Given the description of an element on the screen output the (x, y) to click on. 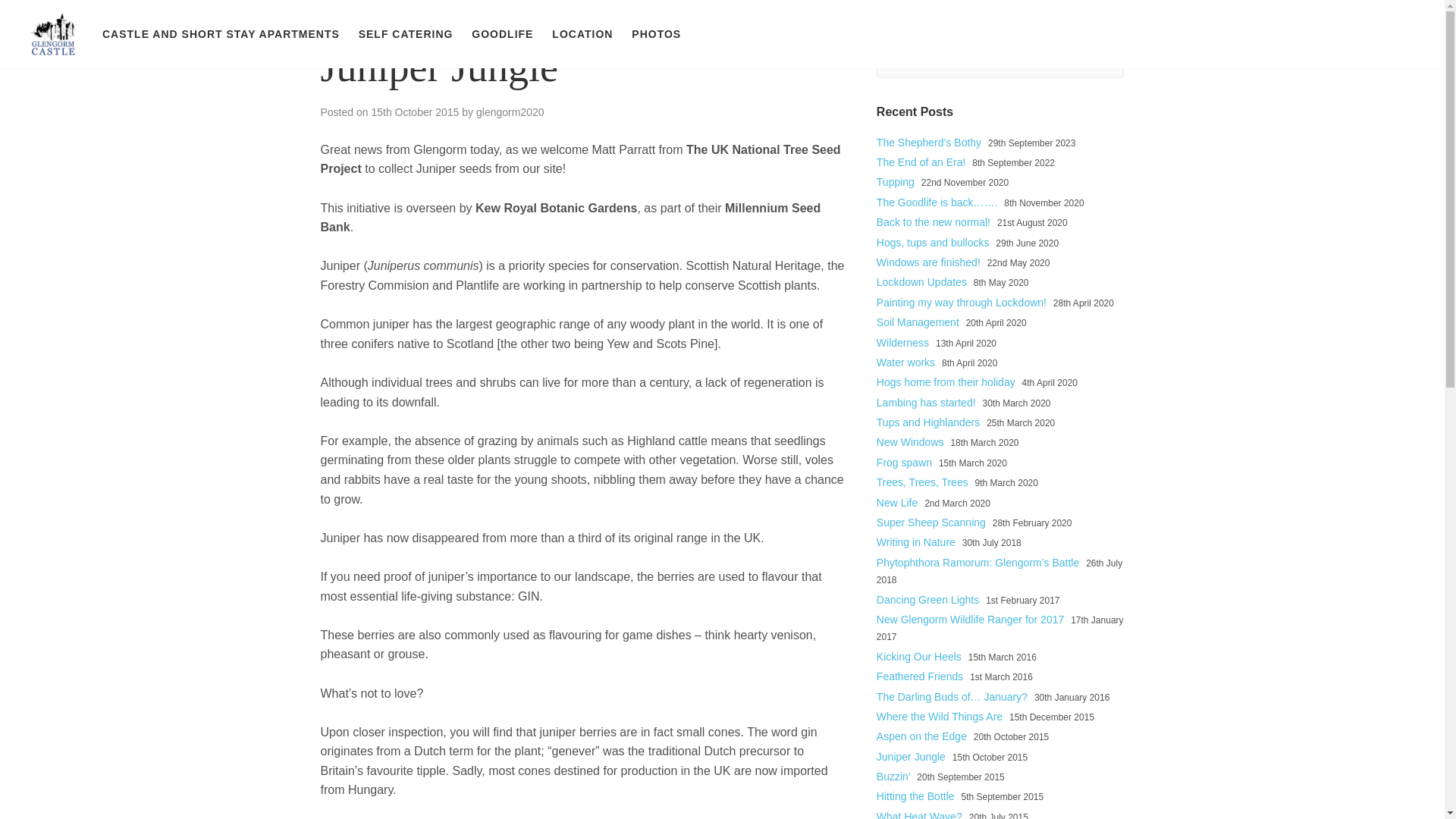
Windows are finished! (927, 262)
CASTLE AND SHORT STAY APARTMENTS (220, 33)
glengorm2020 (510, 111)
GLENGORM CASTLE (52, 33)
New Life (896, 502)
GOODLIFE (501, 33)
Tupping (895, 182)
Search (889, 95)
Dancing Green Lights (927, 599)
Search (889, 95)
